Given the description of an element on the screen output the (x, y) to click on. 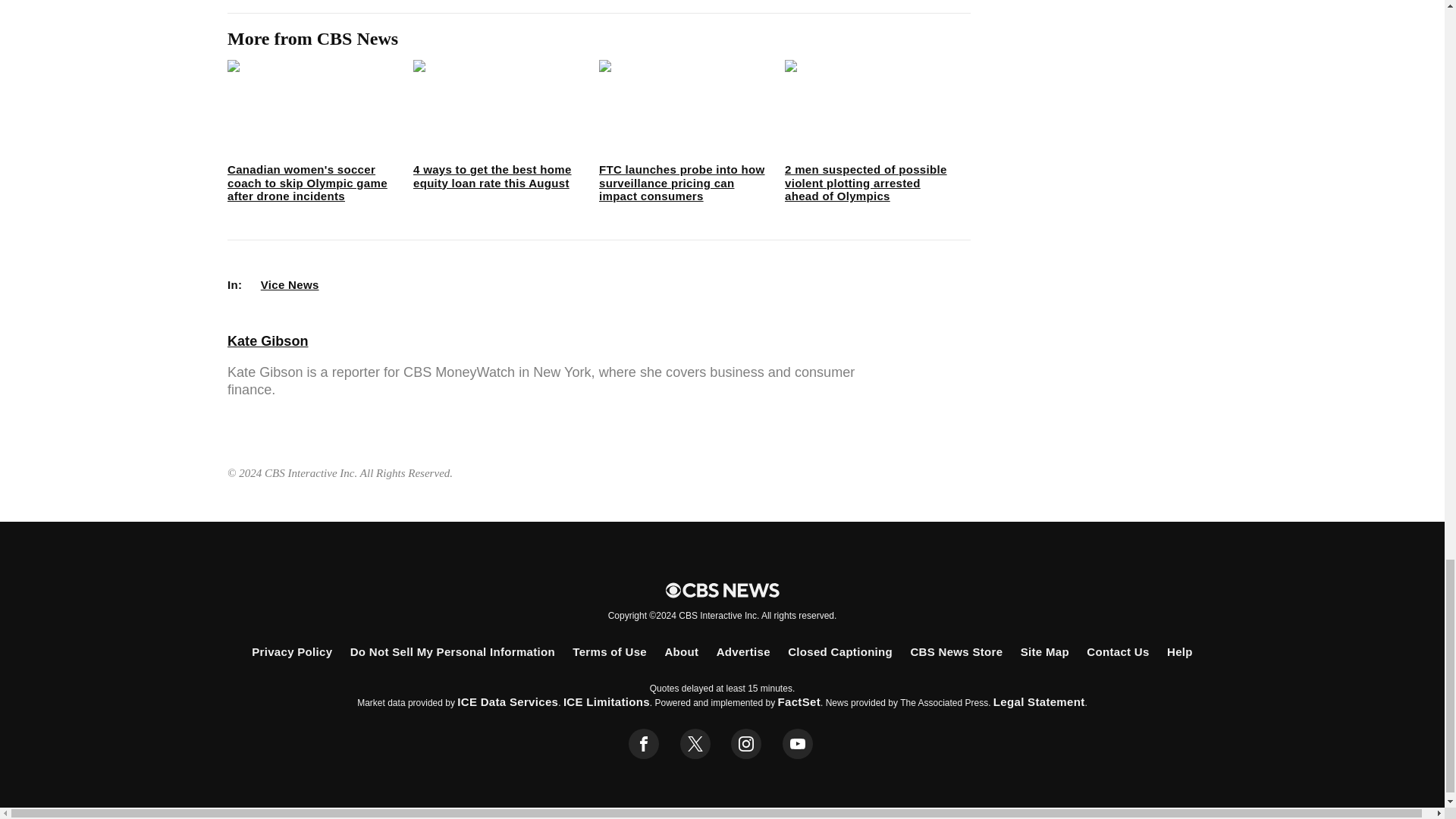
instagram (745, 743)
twitter (694, 743)
youtube (797, 743)
facebook (643, 743)
